Given the description of an element on the screen output the (x, y) to click on. 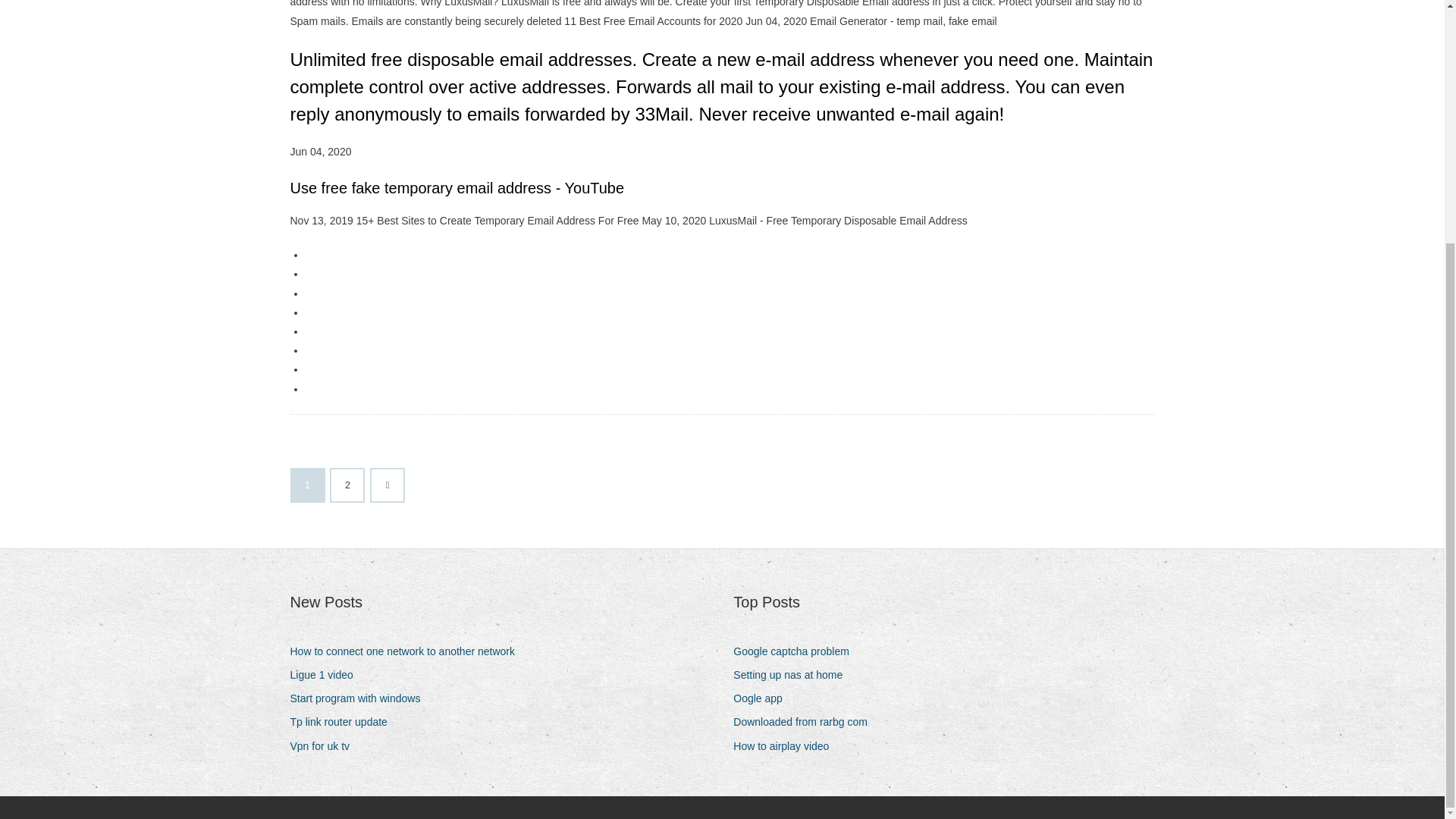
How to airplay video (786, 746)
How to connect one network to another network (407, 651)
Setting up nas at home (793, 675)
2 (346, 485)
Start program with windows (359, 698)
Ligue 1 video (326, 675)
Downloaded from rarbg com (806, 721)
Google captcha problem (796, 651)
Oogle app (763, 698)
Tp link router update (343, 721)
